Given the description of an element on the screen output the (x, y) to click on. 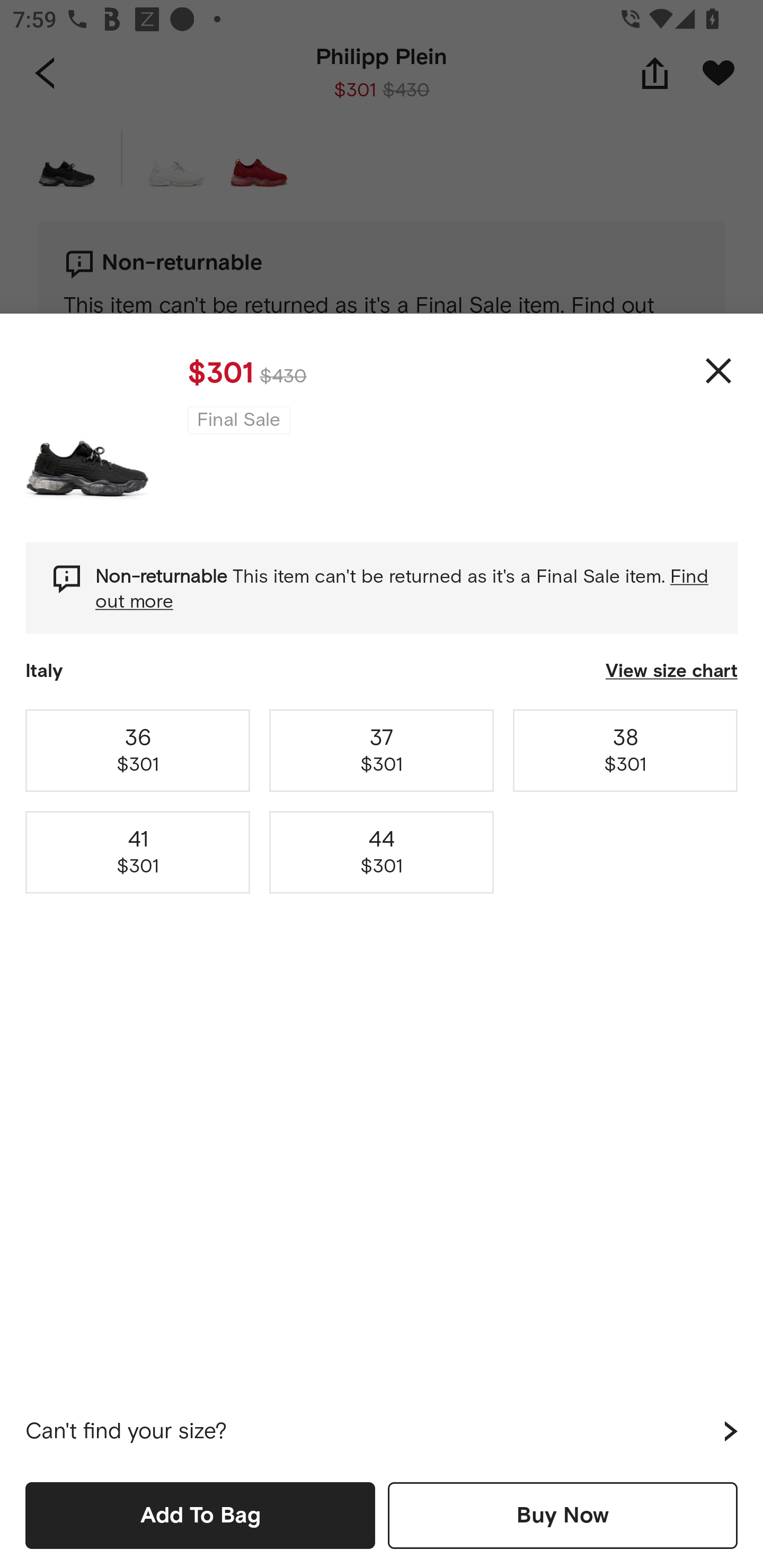
36 $301 (137, 749)
37 $301 (381, 749)
38 $301 (624, 749)
41 $301 (137, 851)
44 $301 (381, 851)
Can't find your size? (381, 1431)
Add To Bag (200, 1515)
Buy Now (562, 1515)
